Given the description of an element on the screen output the (x, y) to click on. 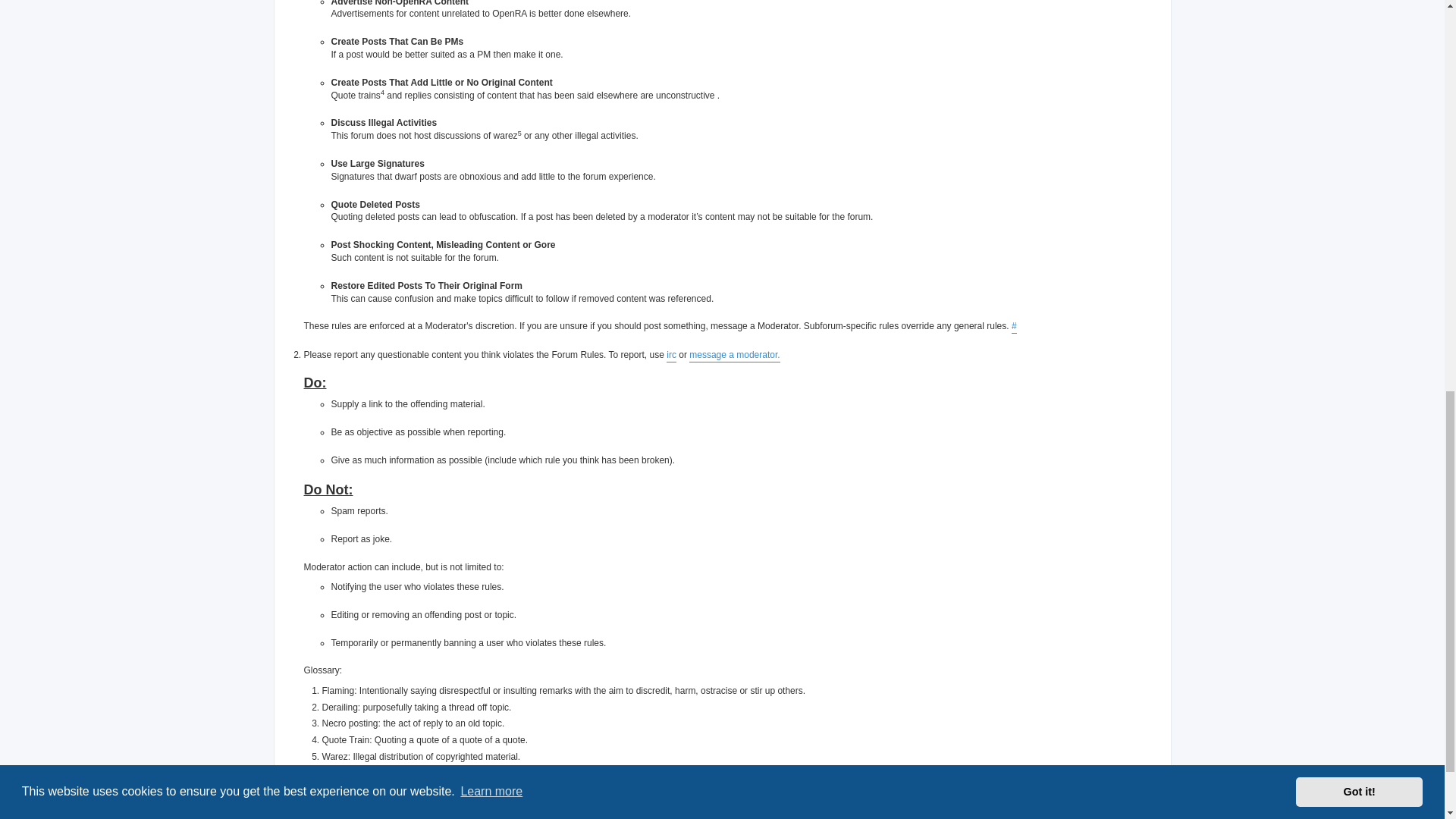
Forum (362, 813)
Delete cookies (1045, 813)
message a moderator. (733, 355)
Website (314, 813)
 Policies (984, 813)
UTC (1142, 816)
Forum (362, 813)
irc (671, 355)
Website (314, 813)
